Given the description of an element on the screen output the (x, y) to click on. 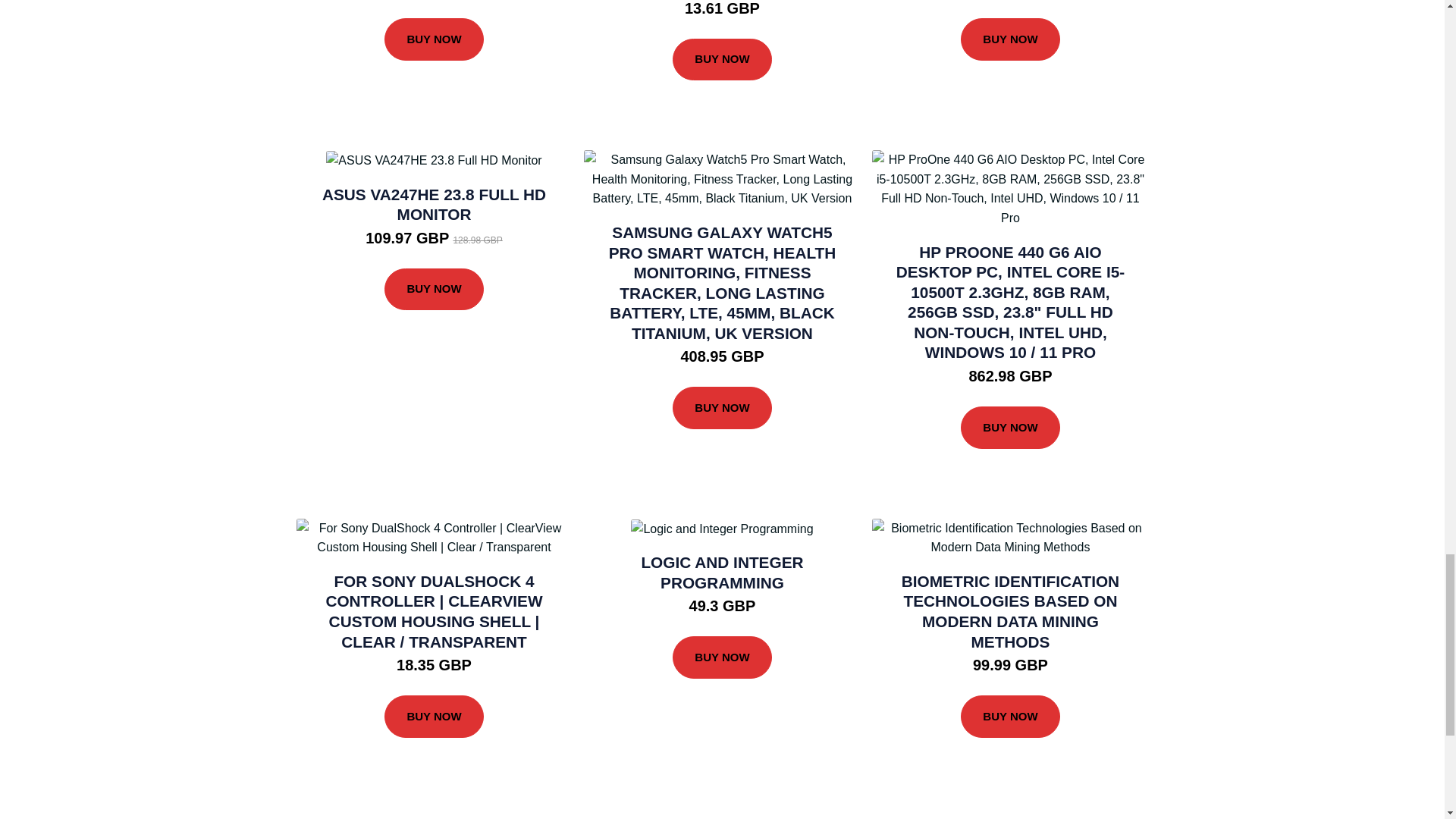
ASUS VA247HE 23.8 FULL HD MONITOR (433, 204)
BUY NOW (433, 289)
BUY NOW (433, 39)
BUY NOW (1009, 39)
BUY NOW (721, 59)
